Given the description of an element on the screen output the (x, y) to click on. 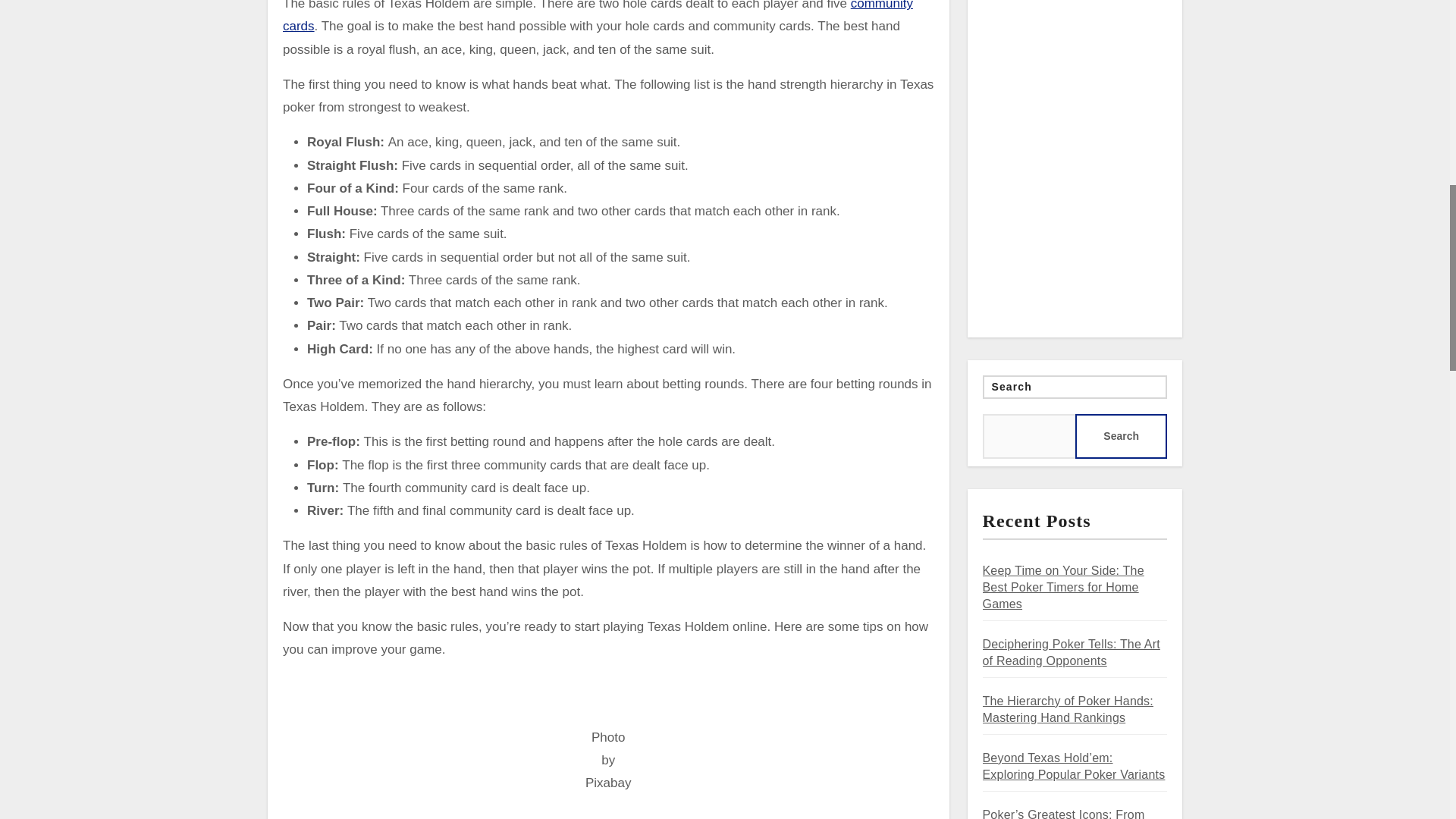
community cards (597, 16)
